Given the description of an element on the screen output the (x, y) to click on. 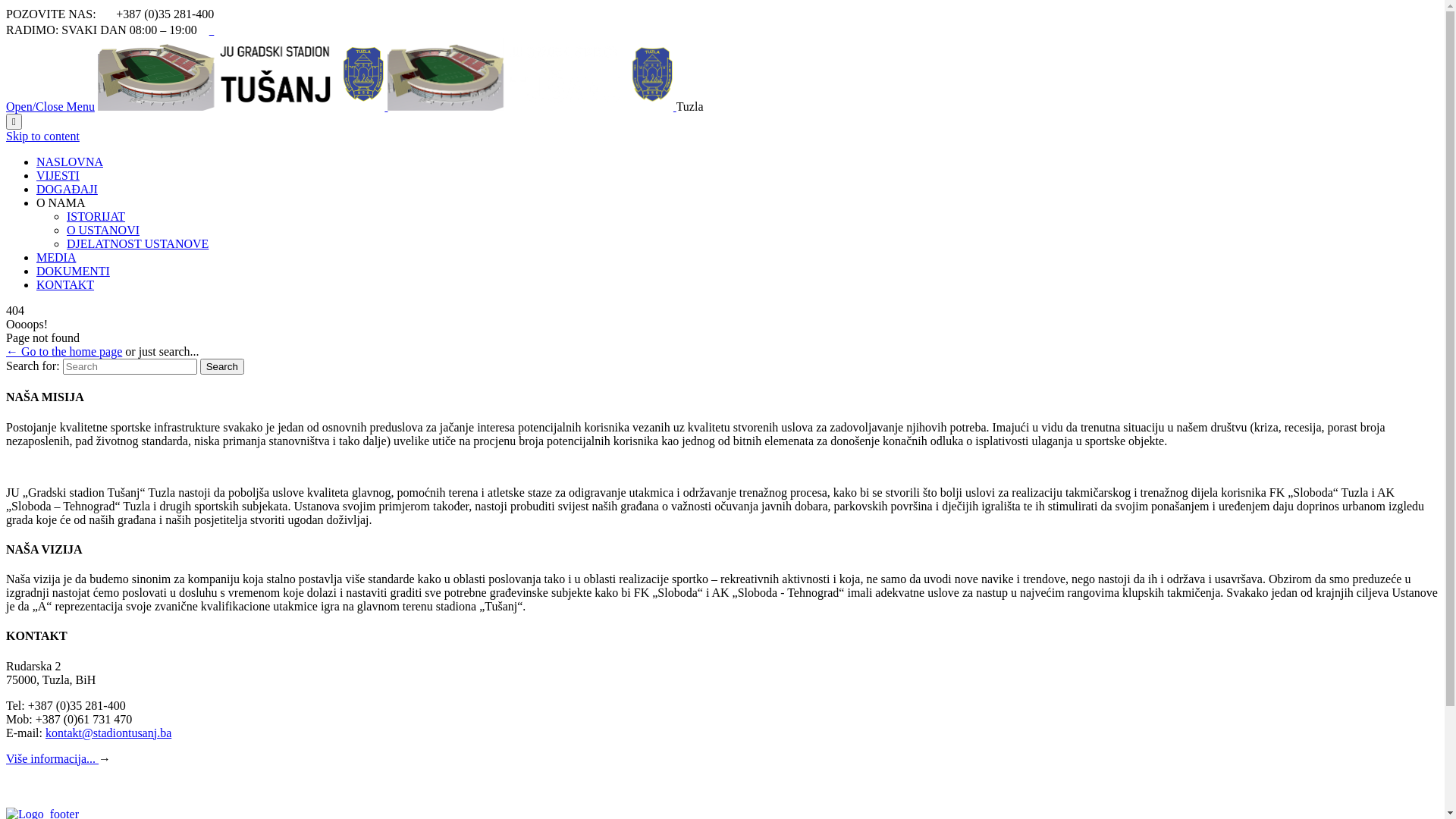
Open/Close Menu Element type: text (50, 106)
KONTAKT Element type: text (65, 284)
DJELATNOST USTANOVE Element type: text (137, 243)
NASLOVNA Element type: text (69, 161)
Skip to content Element type: text (42, 135)
O USTANOVI Element type: text (102, 229)
MEDIA Element type: text (55, 257)
DOKUMENTI Element type: text (72, 270)
ISTORIJAT Element type: text (95, 216)
O NAMA Element type: text (60, 202)
Search Element type: text (222, 366)
VIJESTI Element type: text (57, 175)
kontakt@stadiontusanj.ba Element type: text (108, 732)
